Given the description of an element on the screen output the (x, y) to click on. 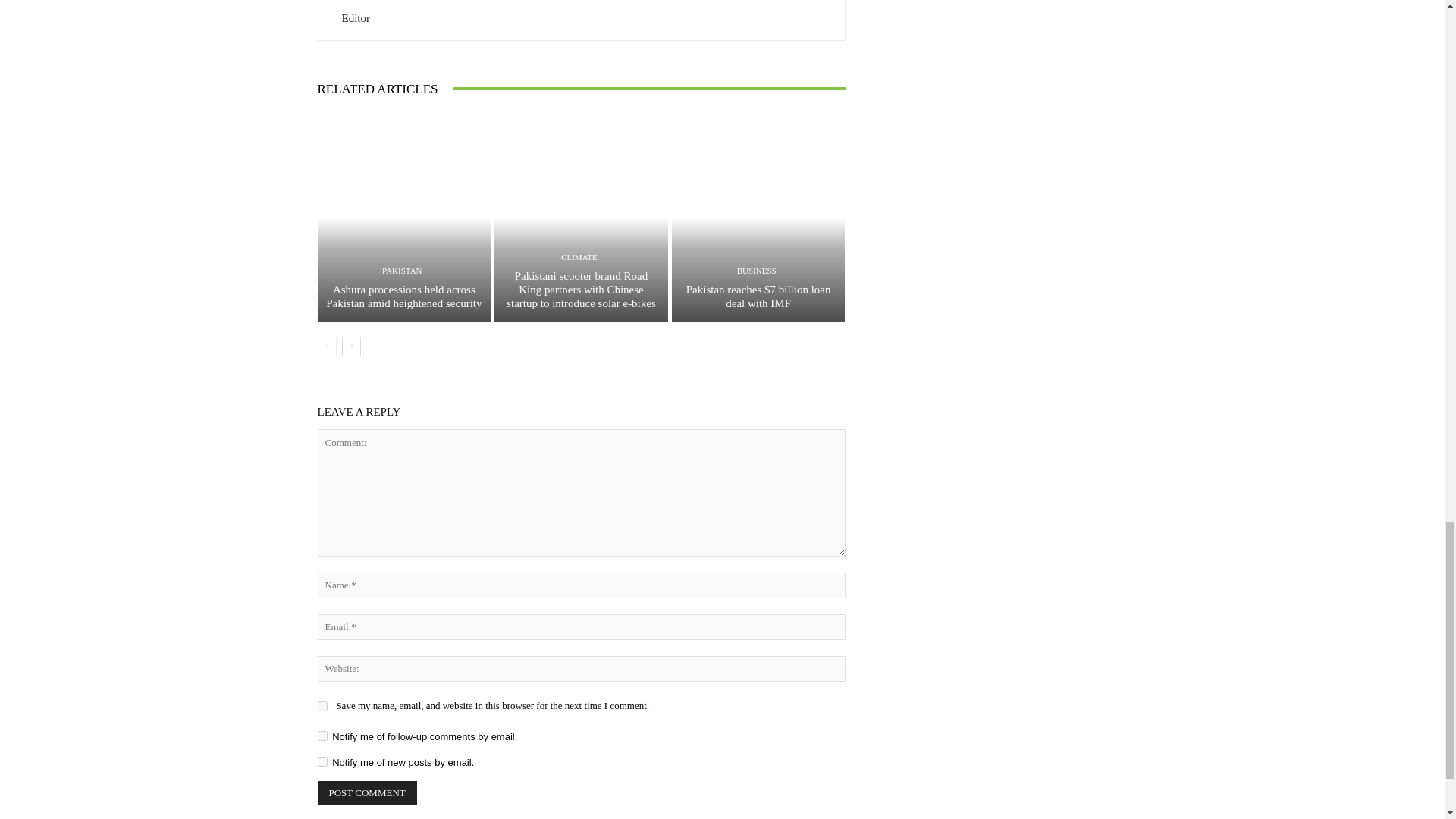
yes (321, 706)
subscribe (321, 761)
subscribe (321, 736)
Post Comment (366, 793)
